Given the description of an element on the screen output the (x, y) to click on. 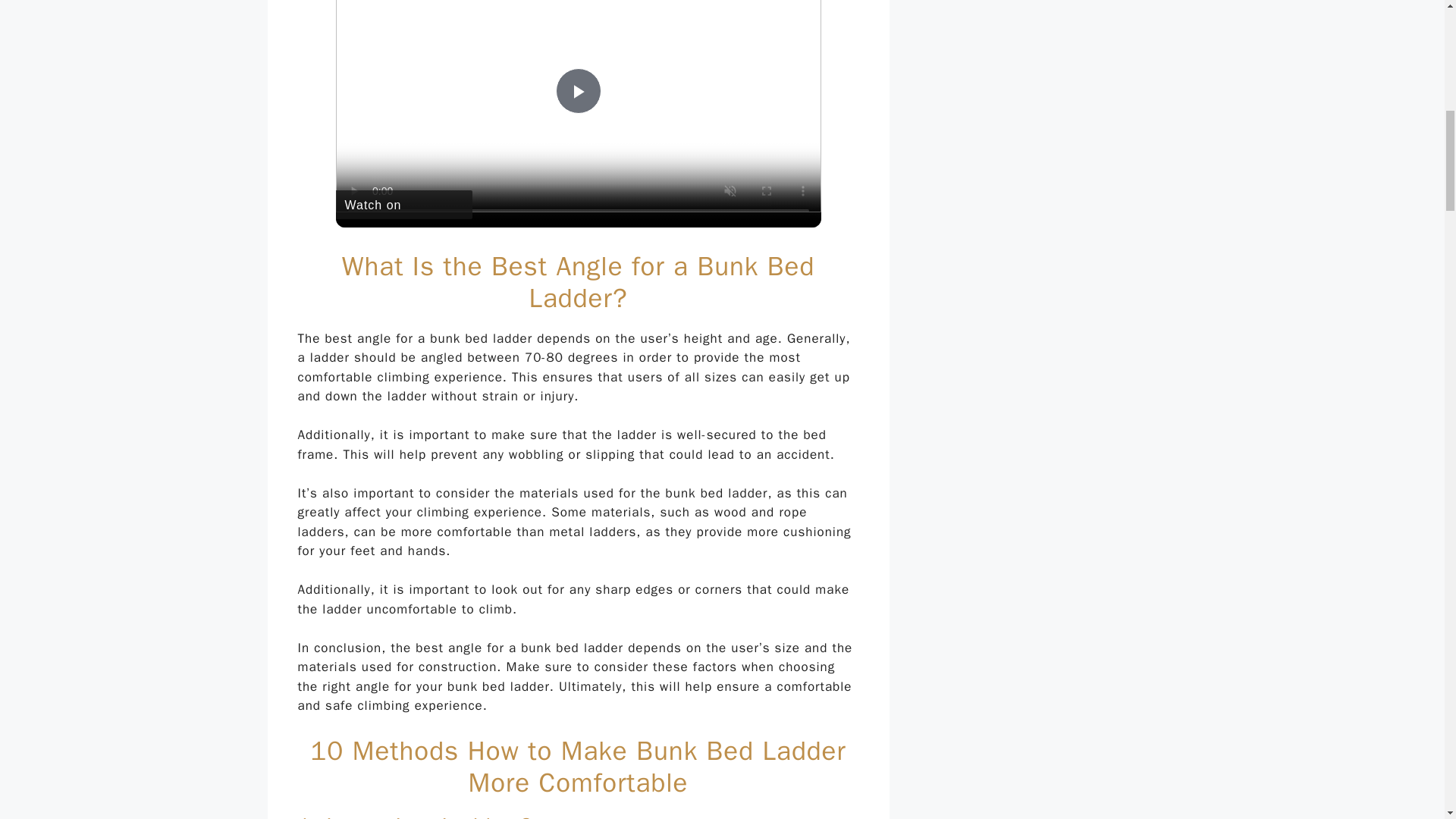
Play Video (576, 90)
Watch on (402, 204)
Play Video (576, 90)
Scroll back to top (1406, 720)
